Given the description of an element on the screen output the (x, y) to click on. 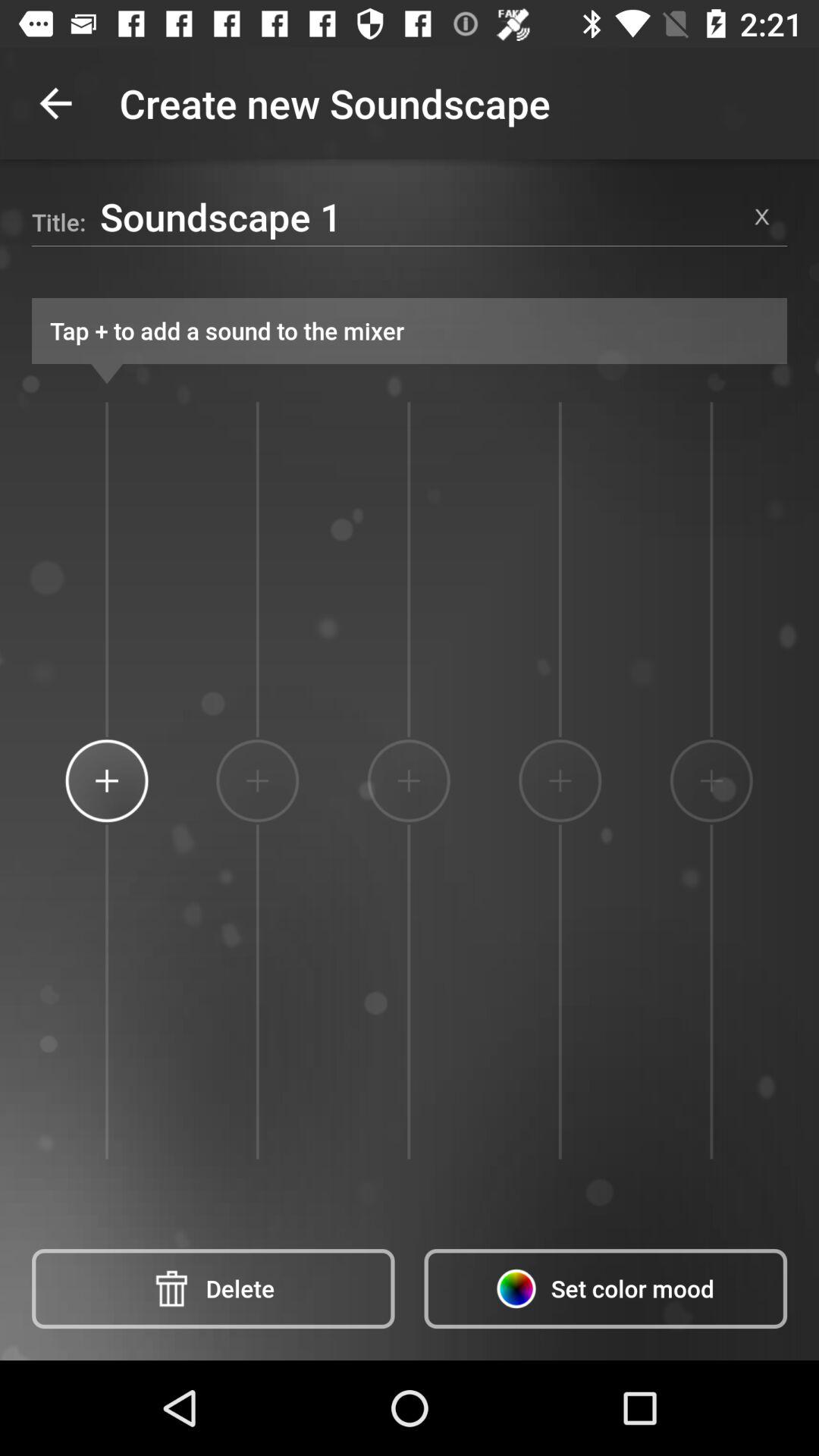
tap icon next to title: item (418, 216)
